Given the description of an element on the screen output the (x, y) to click on. 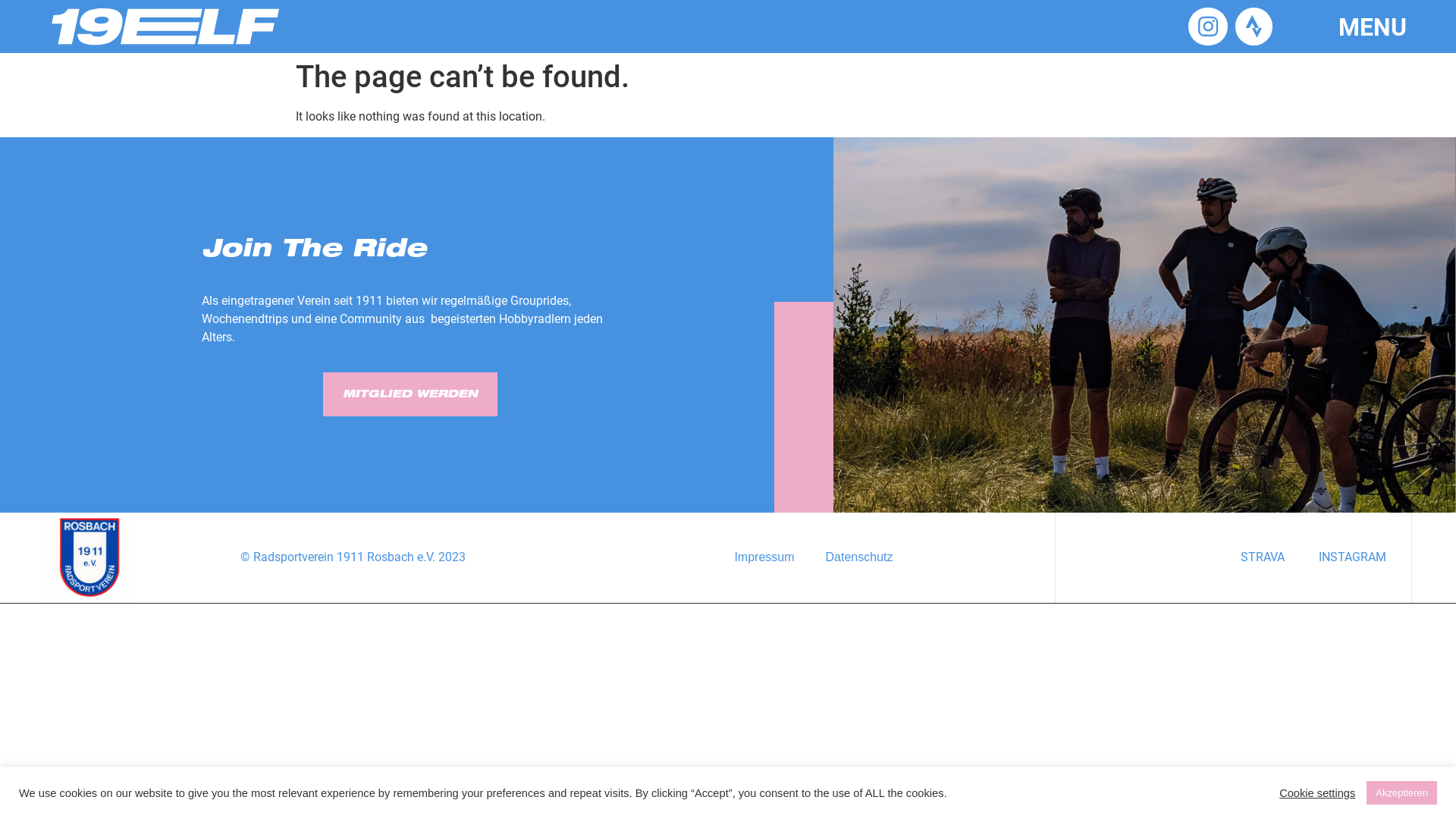
STRAVA Element type: text (1262, 557)
Akzeptieren Element type: text (1401, 792)
Impressum Element type: text (763, 557)
Cookie settings Element type: text (1317, 792)
MENU Element type: text (1372, 27)
MITGLIED WERDEN Element type: text (410, 394)
INSTAGRAM Element type: text (1352, 557)
Datenschutz Element type: text (859, 557)
